Given the description of an element on the screen output the (x, y) to click on. 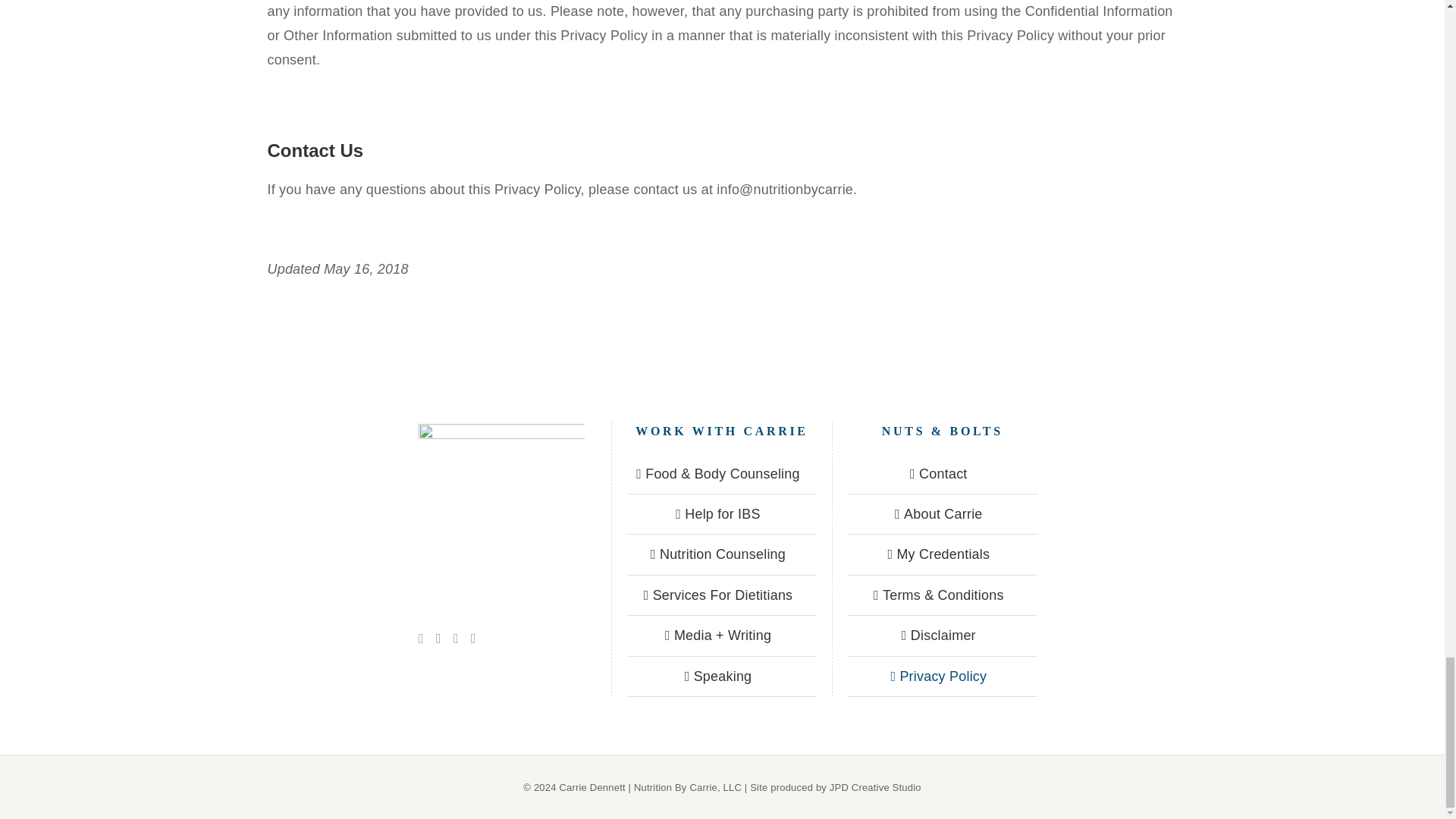
Services For Dietitians (722, 595)
Nutrition Counseling (722, 554)
Help for IBS (722, 514)
My Credentials (943, 554)
Disclaimer (943, 635)
Speaking (722, 675)
About Carrie (943, 514)
Contact (943, 473)
